Given the description of an element on the screen output the (x, y) to click on. 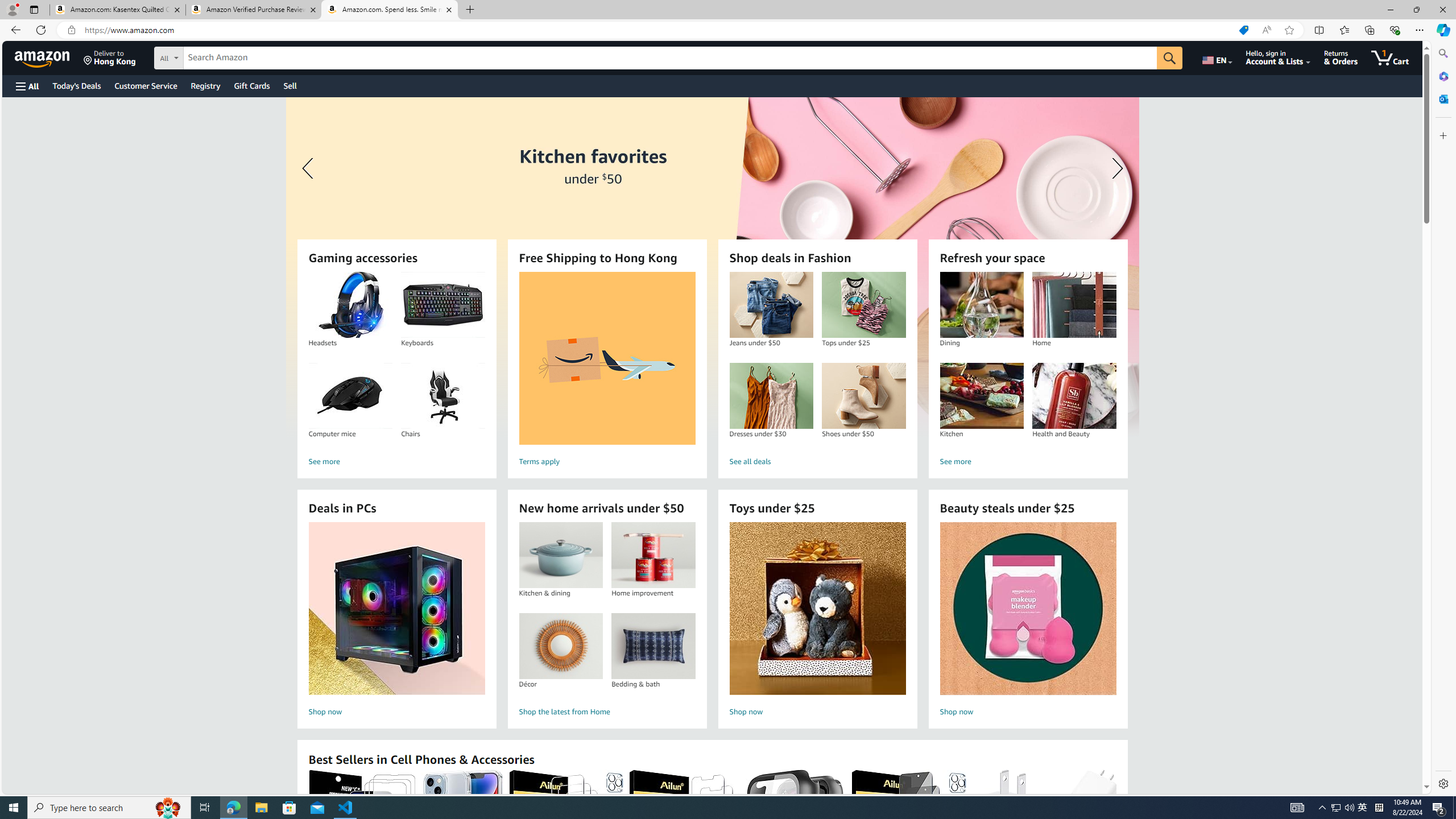
Keyboards (443, 304)
Shop Kitchen favorites (711, 267)
Health and Beauty (1074, 395)
Kitchen (981, 395)
Dresses under $30 (771, 395)
Free Shipping to Hong Kong (606, 357)
Chairs (443, 395)
Shoes under $50 (863, 395)
Kitchen (981, 395)
